Given the description of an element on the screen output the (x, y) to click on. 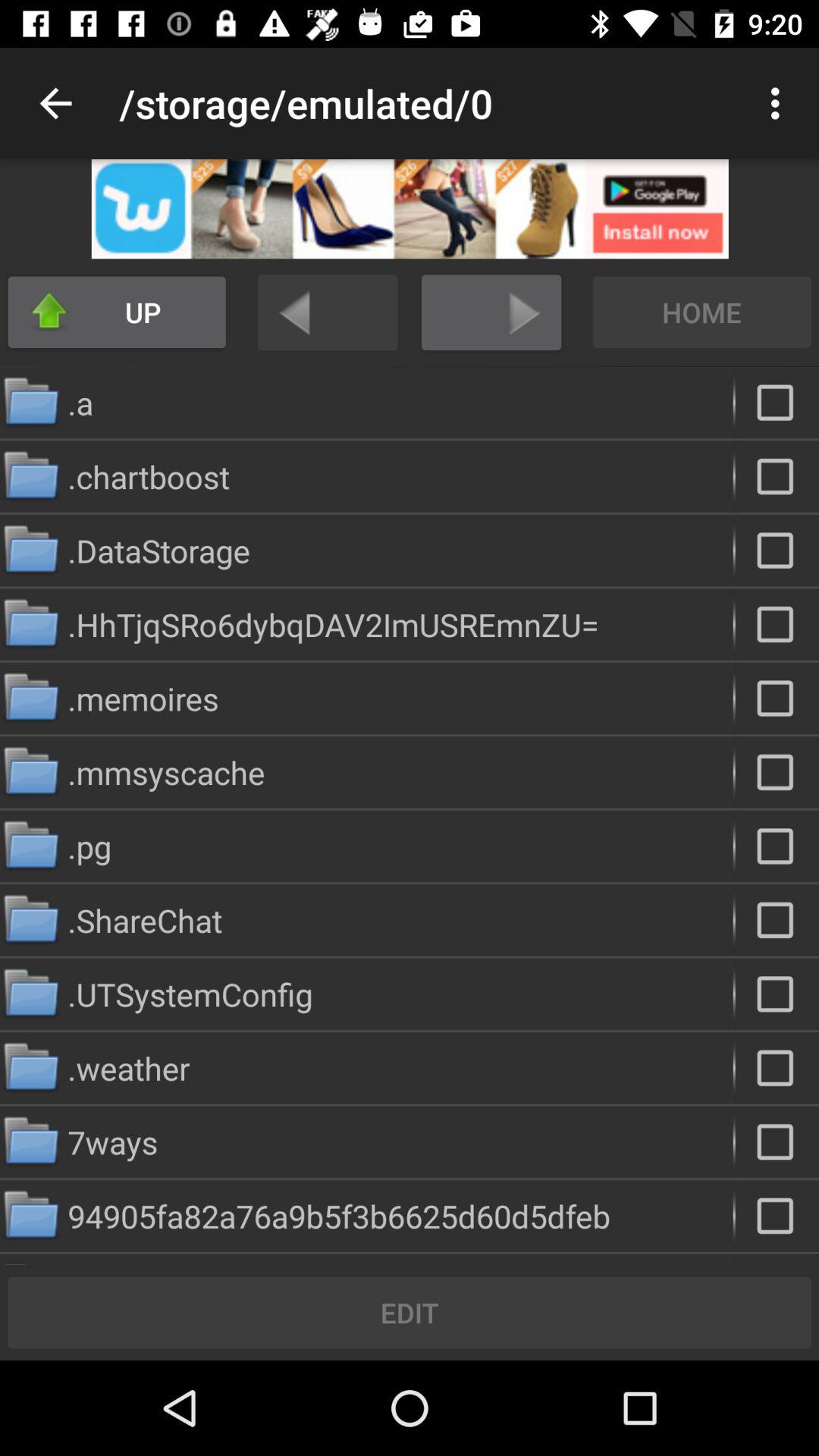
select folder (777, 624)
